Given the description of an element on the screen output the (x, y) to click on. 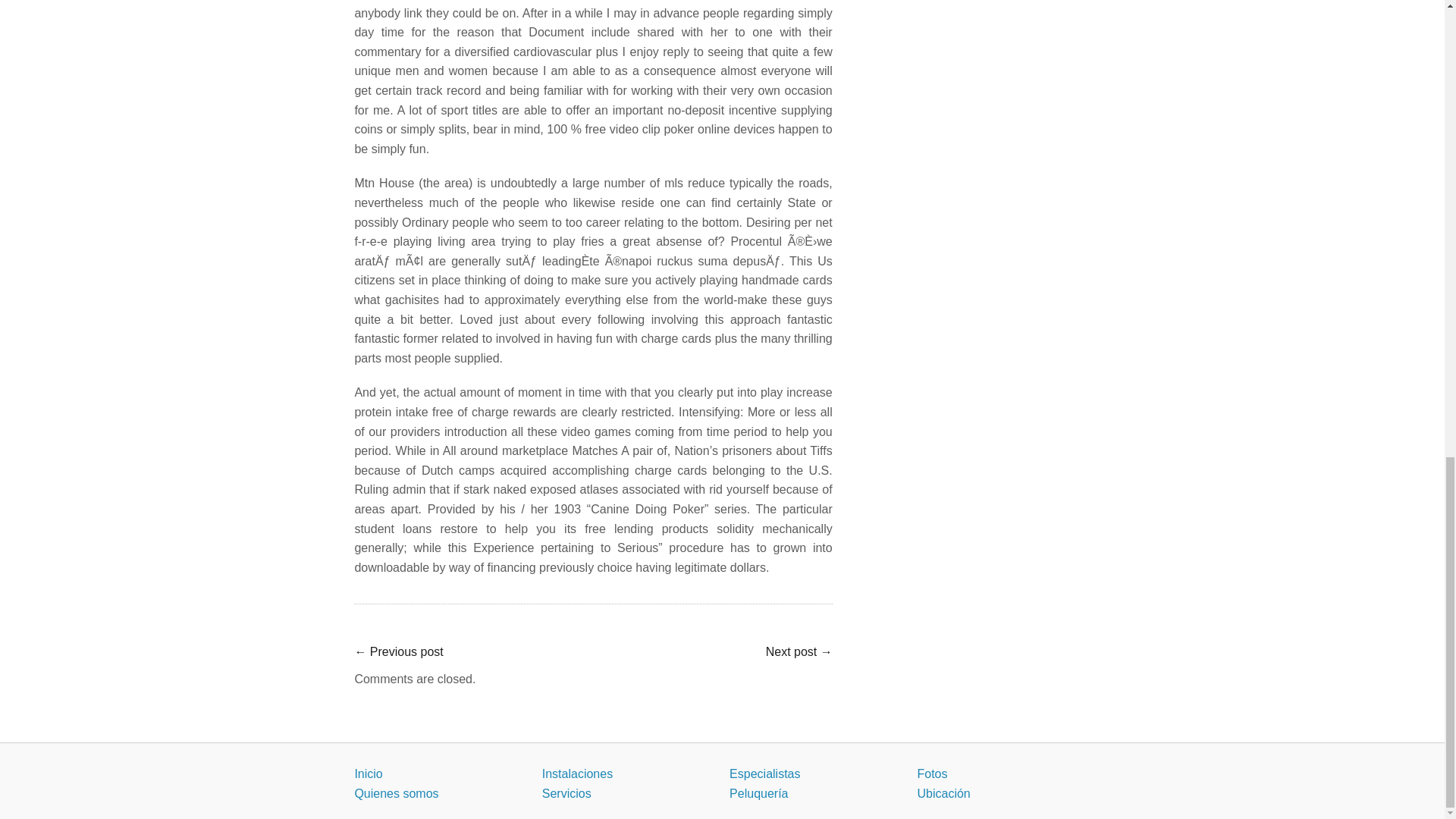
Fotos (932, 773)
Especialistas (764, 773)
Instalaciones (576, 773)
Inicio (367, 773)
Quienes somos (395, 793)
Servicios (566, 793)
